Given the description of an element on the screen output the (x, y) to click on. 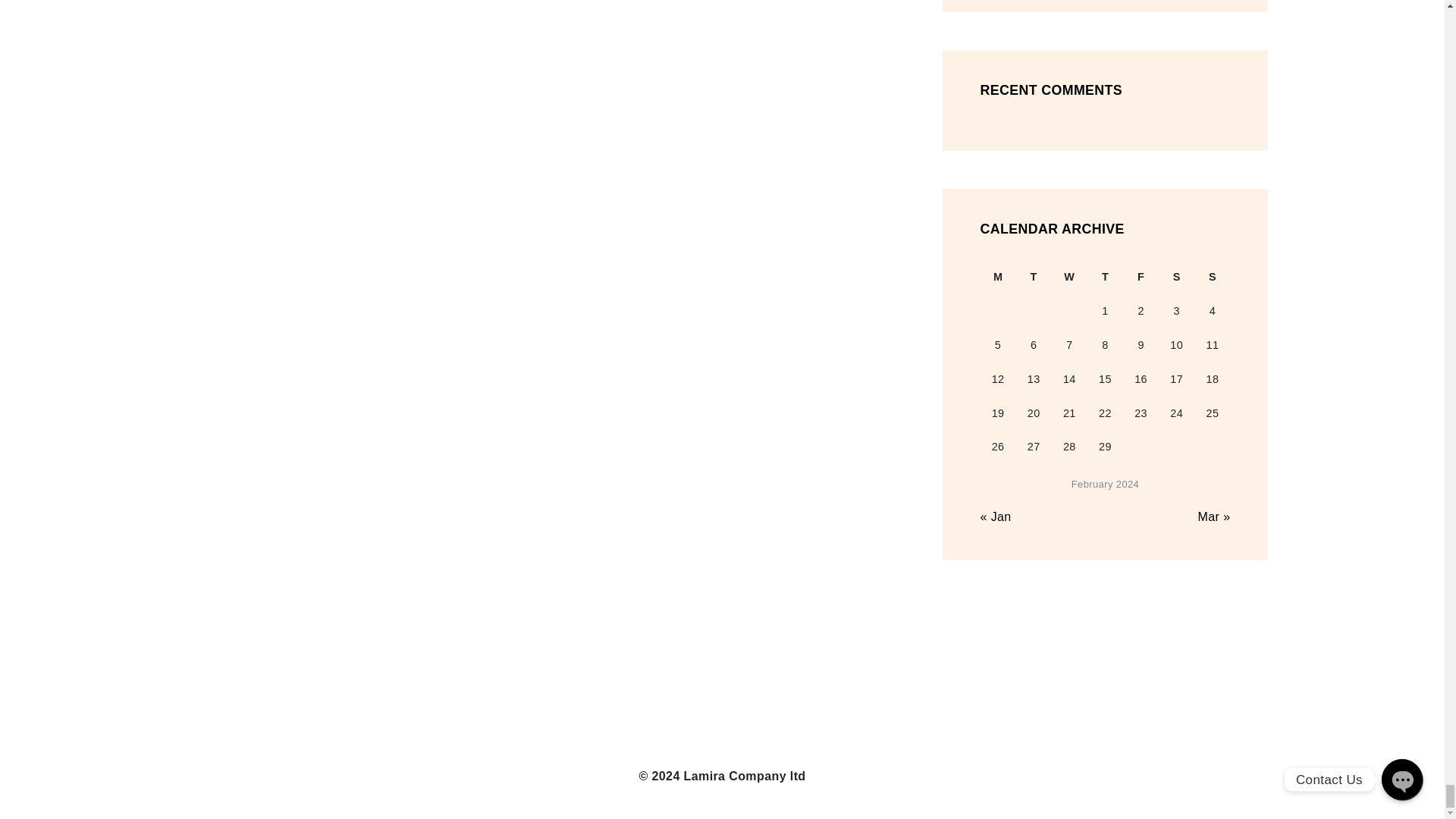
Sunday (1211, 277)
Monday (996, 277)
Wednesday (1069, 277)
Saturday (1175, 277)
Tuesday (1033, 277)
Thursday (1104, 277)
Friday (1140, 277)
